Given the description of an element on the screen output the (x, y) to click on. 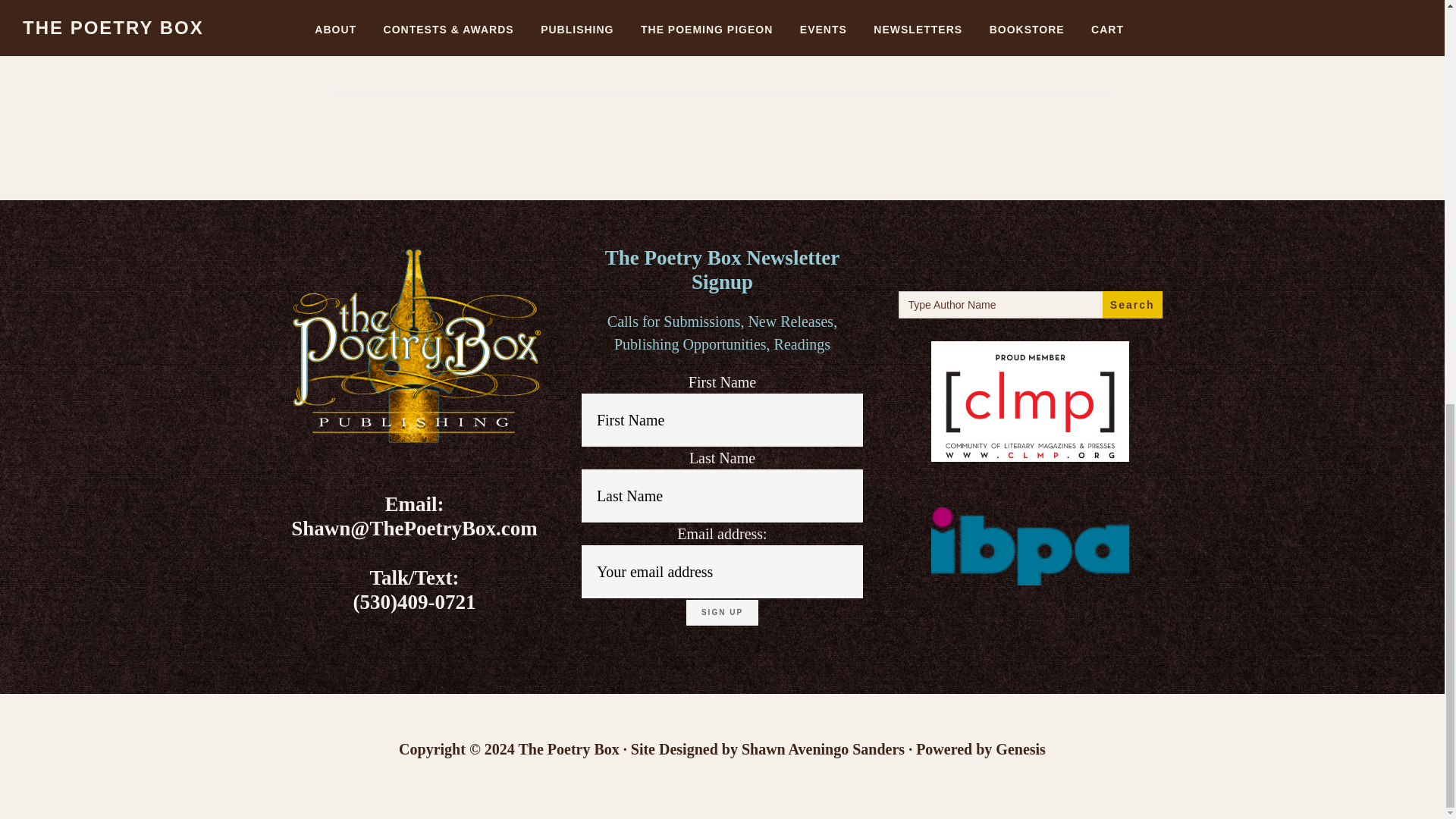
Sign up (721, 612)
Search (1131, 304)
Search (1131, 304)
